Given the description of an element on the screen output the (x, y) to click on. 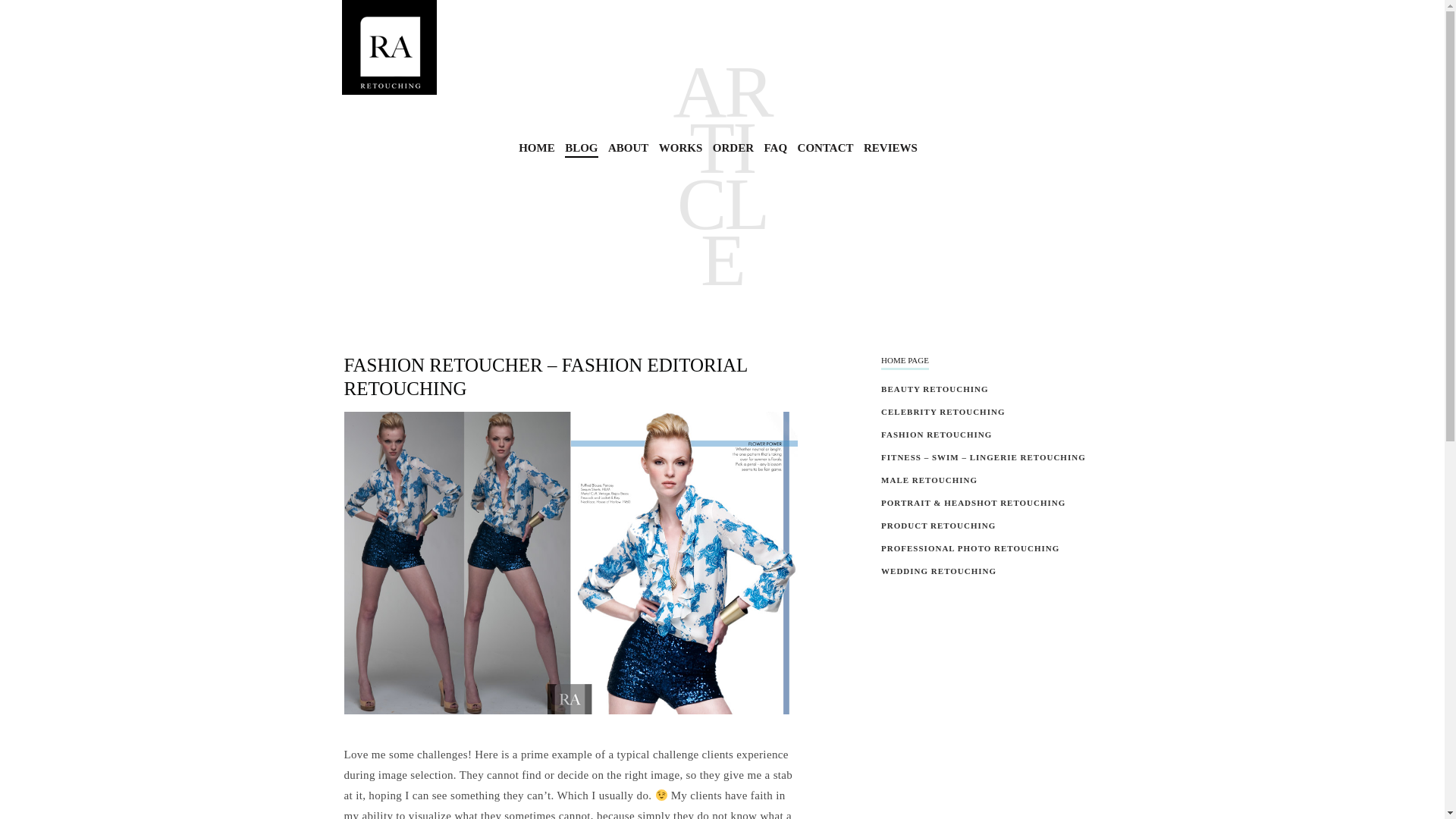
ORDER (733, 149)
BEAUTY RETOUCHING (934, 388)
PROFESSIONAL PHOTO RETOUCHING (969, 547)
WEDDING RETOUCHING (937, 570)
PRODUCT RETOUCHING (937, 524)
CELEBRITY RETOUCHING (942, 411)
FASHION RETOUCHING (935, 433)
MALE RETOUCHING (928, 479)
ABOUT (627, 149)
HOME (536, 149)
BLOG (580, 149)
REVIEWS (890, 149)
FAQ (775, 149)
Professional Photo Retouching (387, 47)
WORKS (681, 149)
